Given the description of an element on the screen output the (x, y) to click on. 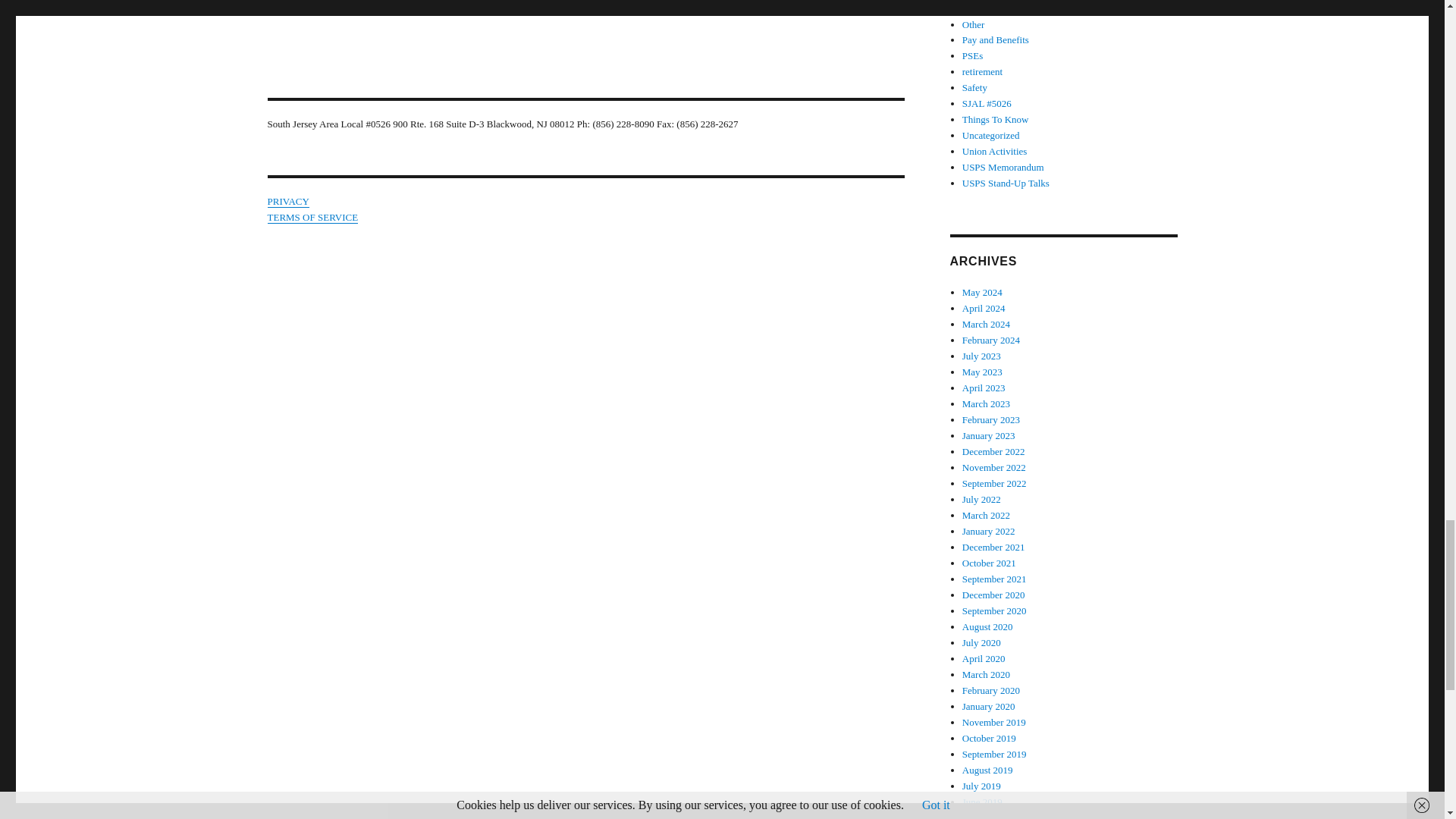
TERMS OF SERVICE (312, 216)
PRIVACY (287, 201)
